Given the description of an element on the screen output the (x, y) to click on. 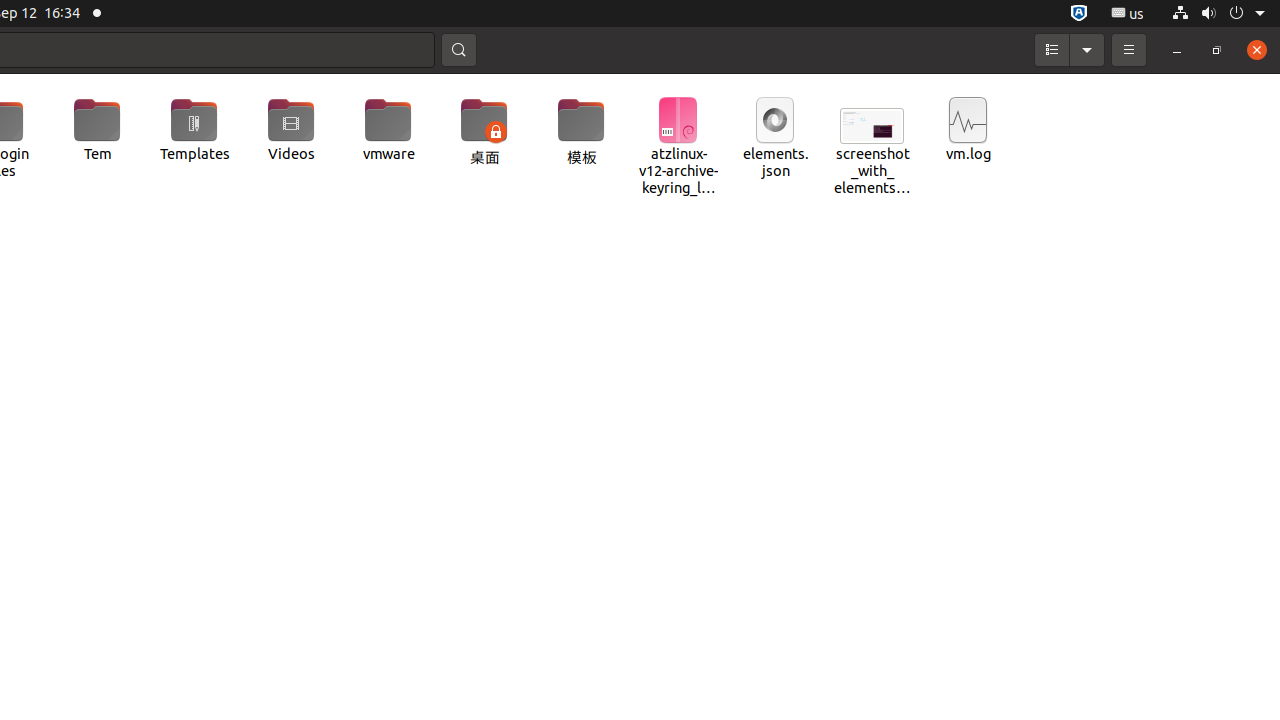
Videos Element type: canvas (291, 130)
screenshot_with_elements.png Element type: canvas (872, 139)
elements.json Element type: canvas (775, 138)
桌面 Element type: canvas (484, 133)
Templates Element type: canvas (194, 130)
